Given the description of an element on the screen output the (x, y) to click on. 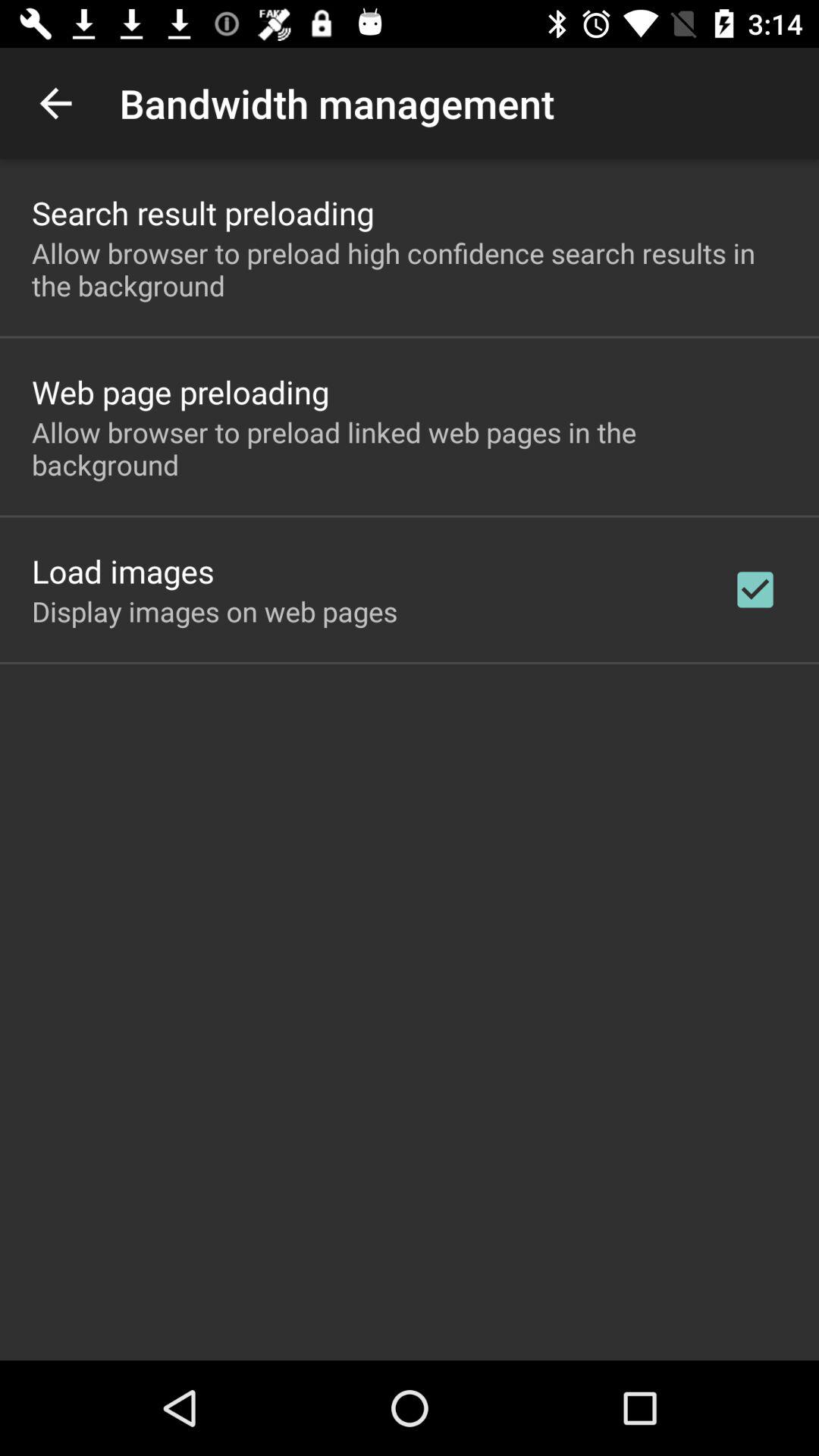
launch the app above allow browser to (180, 391)
